Given the description of an element on the screen output the (x, y) to click on. 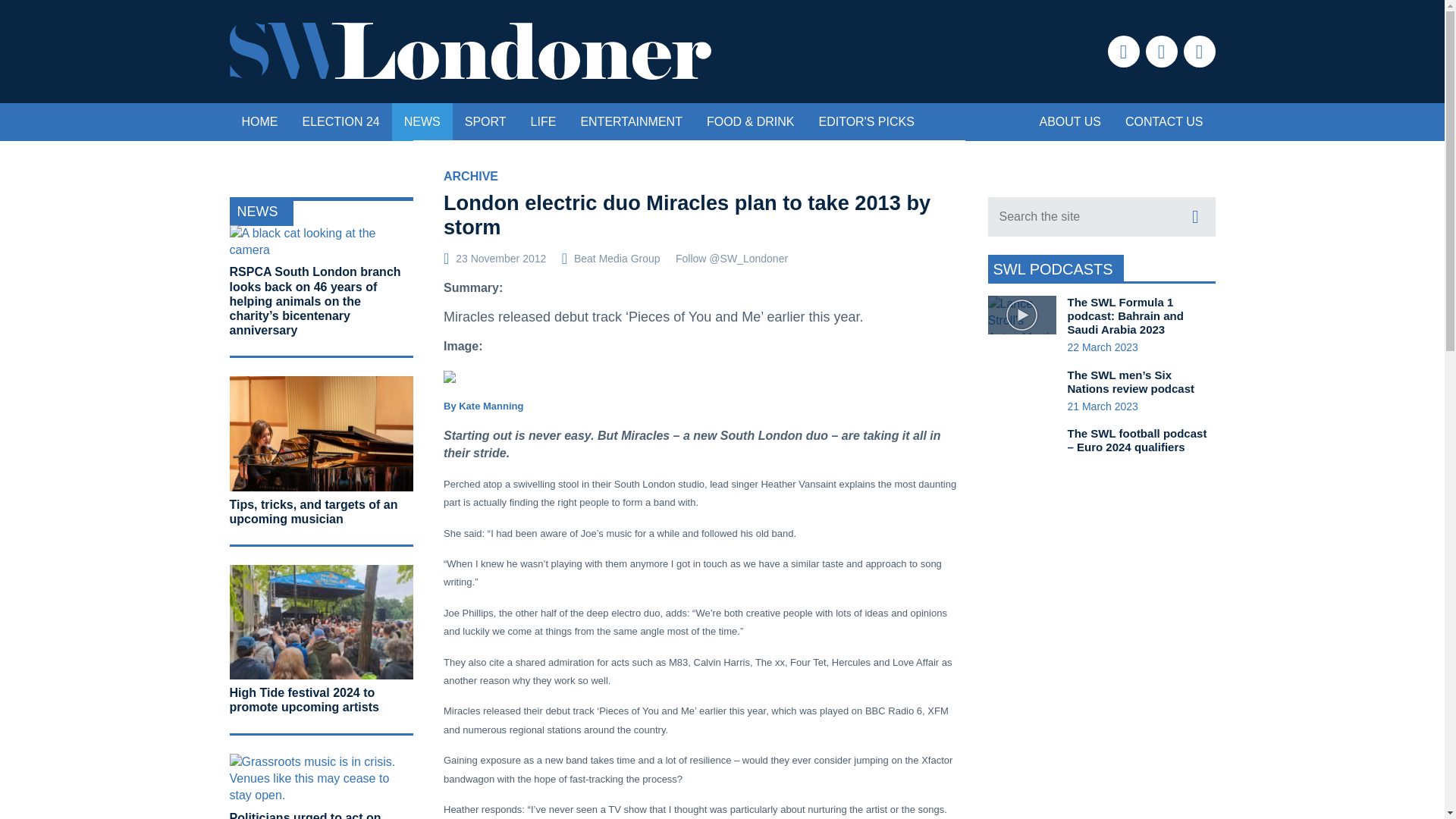
SPORT (485, 121)
ARCHIVE (470, 175)
News (421, 121)
ABOUT US (1069, 121)
Sport (485, 121)
NEWS (421, 121)
Tips, tricks, and targets of an upcoming musician (312, 511)
About us (1069, 121)
EDITOR'S PICKS (866, 121)
